Given the description of an element on the screen output the (x, y) to click on. 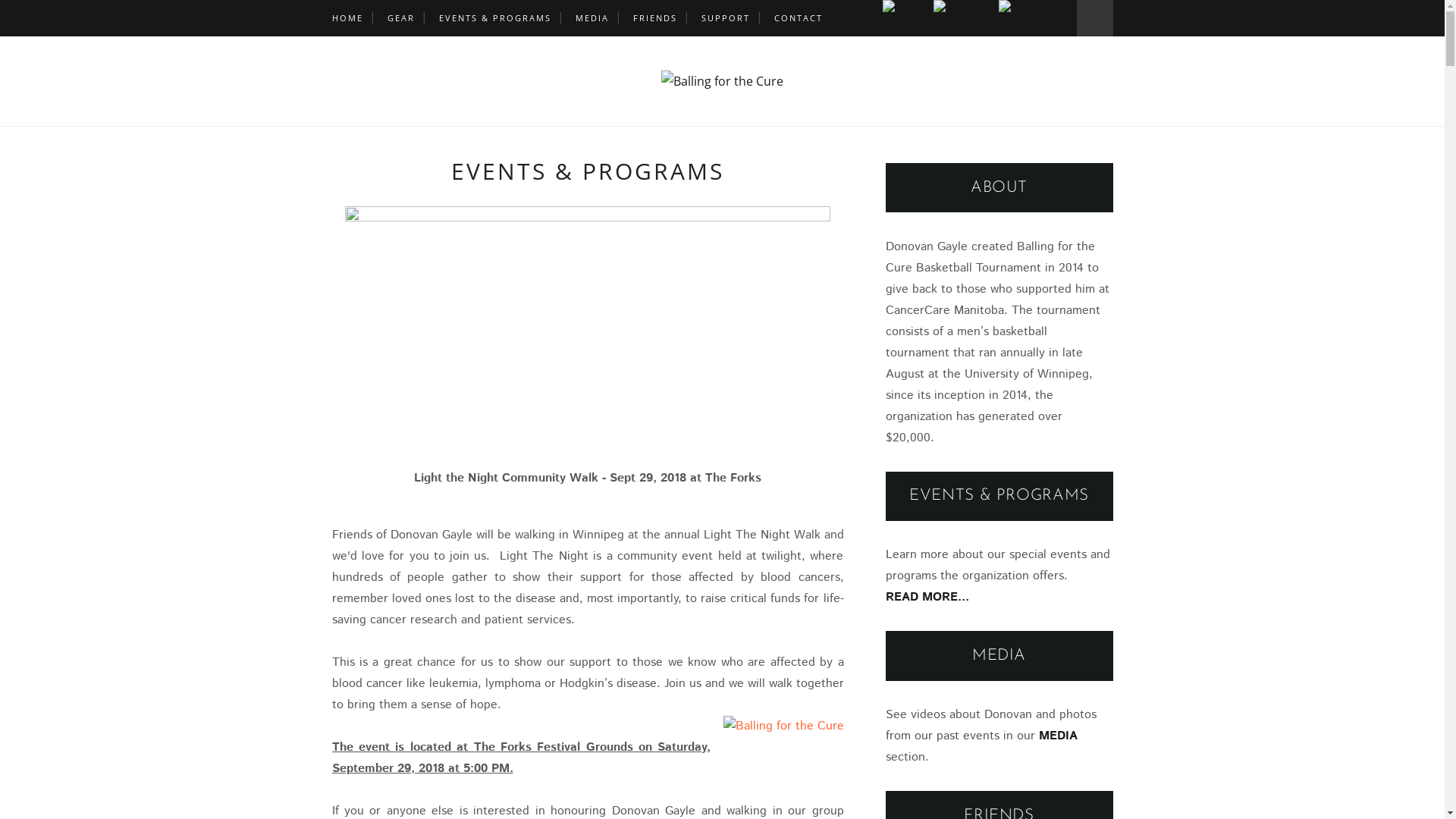
Facebook Element type: hover (1029, 10)
GEAR Element type: text (400, 18)
MEDIA Element type: text (1057, 735)
HOME Element type: text (347, 18)
FRIENDS Element type: text (654, 18)
EVENTS & PROGRAMS Element type: text (494, 18)
SUPPORT Element type: text (724, 18)
Instagram Element type: hover (964, 10)
Twitter Element type: hover (907, 10)
CONTACT Element type: text (797, 18)
MEDIA Element type: text (591, 18)
READ MORE... Element type: text (927, 596)
